Given the description of an element on the screen output the (x, y) to click on. 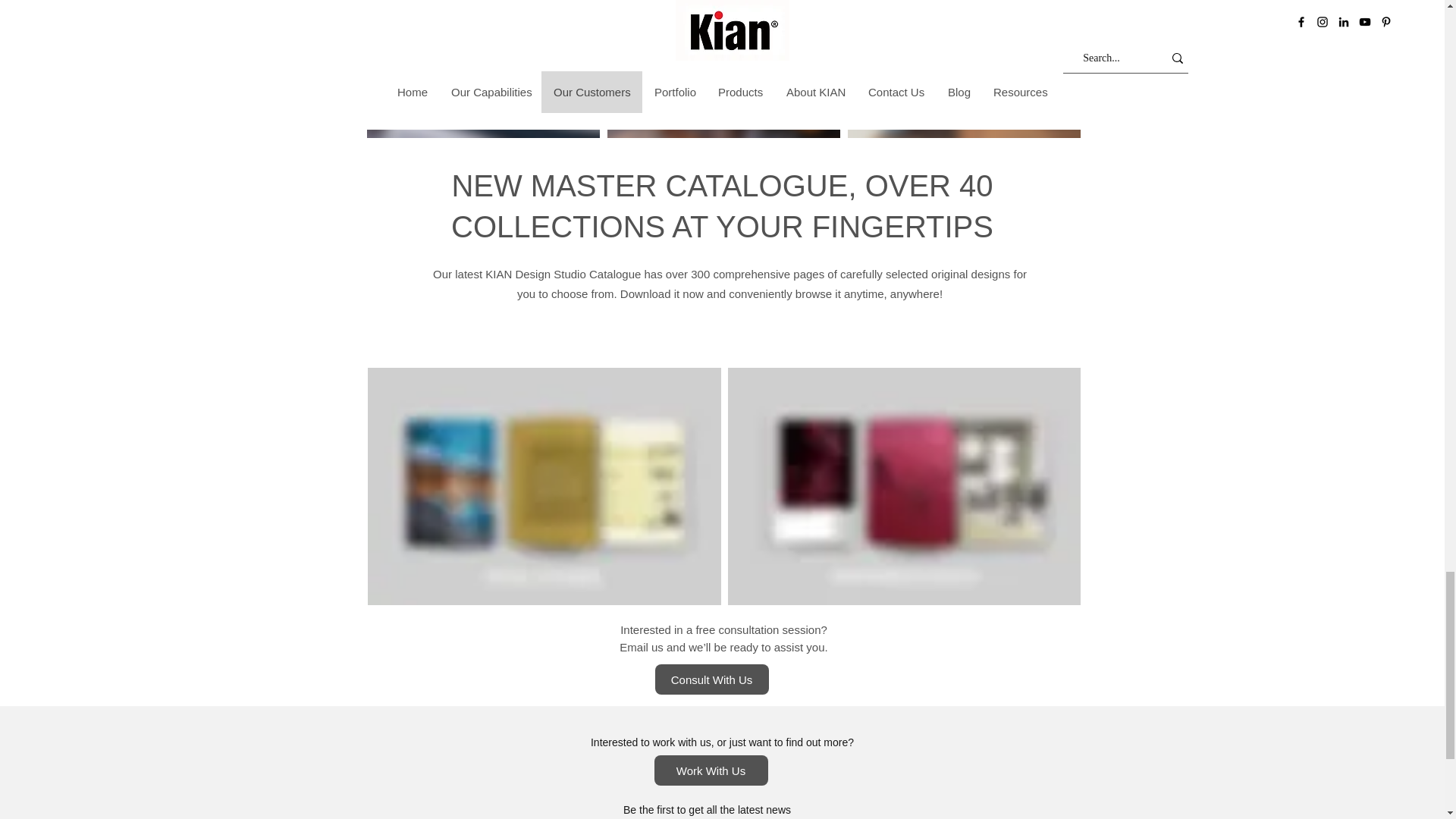
Hotel-Project-A.png (482, 69)
Hotel-Project-B.png (723, 69)
Hotel-Project-C.png (963, 69)
MockUp-KDS-Ctlg.jpg (904, 486)
